Given the description of an element on the screen output the (x, y) to click on. 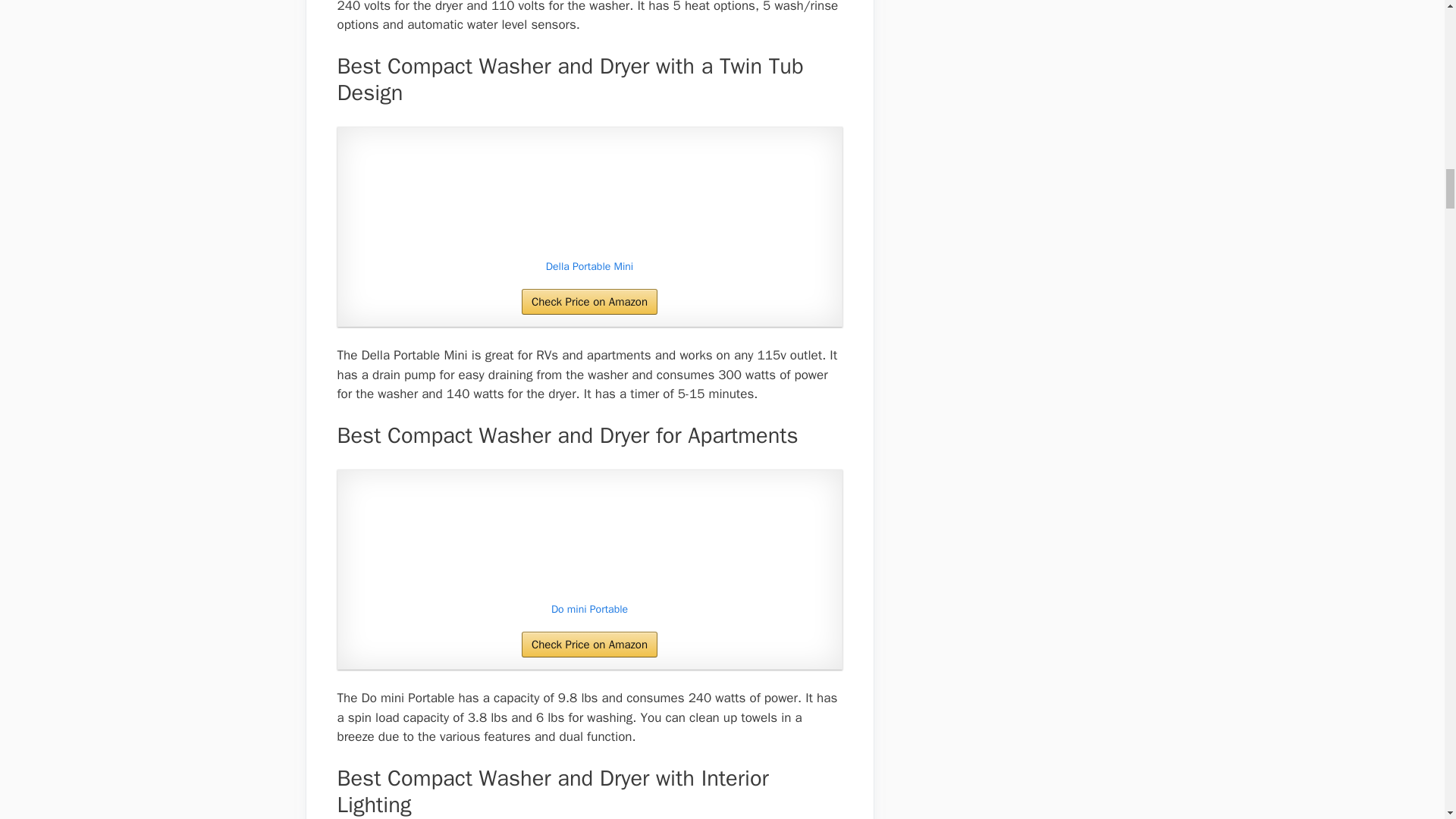
Check Price on Amazon (589, 301)
Della Portable Mini (589, 266)
Della Portable Mini (589, 195)
Della Portable Mini (589, 266)
Check Price on Amazon (589, 301)
Best Compact Washer and Dryer 4 (589, 195)
